Given the description of an element on the screen output the (x, y) to click on. 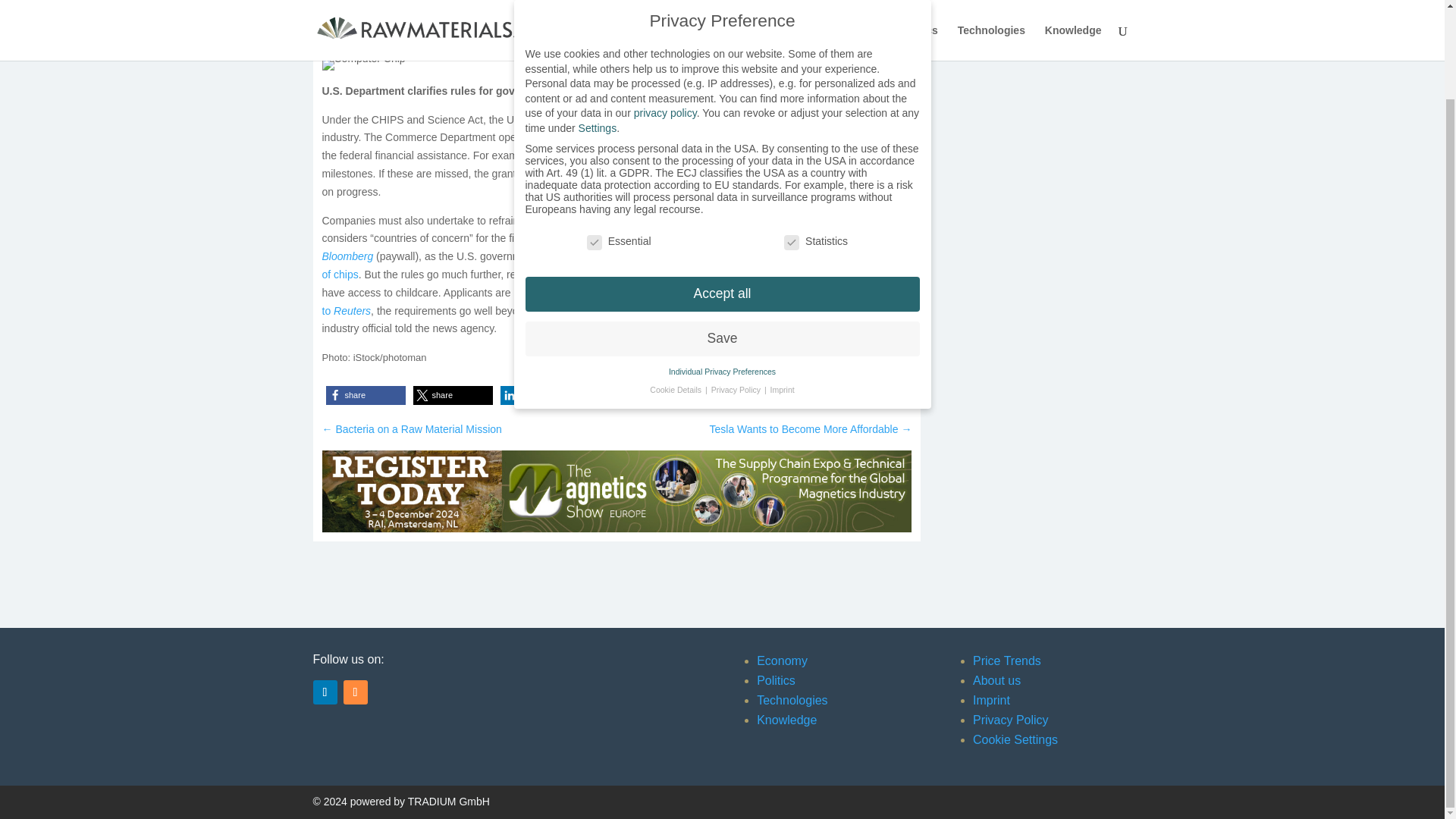
Computer Chip (362, 64)
share  (626, 394)
Follow on LinkedIn (324, 692)
Share on Facebook (366, 394)
Technologies (792, 699)
Follow on RSS (354, 692)
Eric Hendrich (367, 47)
Politics (775, 680)
share  (366, 394)
Settings (597, 26)
share  (452, 394)
Share on X (452, 394)
access to the latest generation of chips (614, 265)
Privacy Policy (1010, 719)
Posts by Eric Hendrich (367, 47)
